Given the description of an element on the screen output the (x, y) to click on. 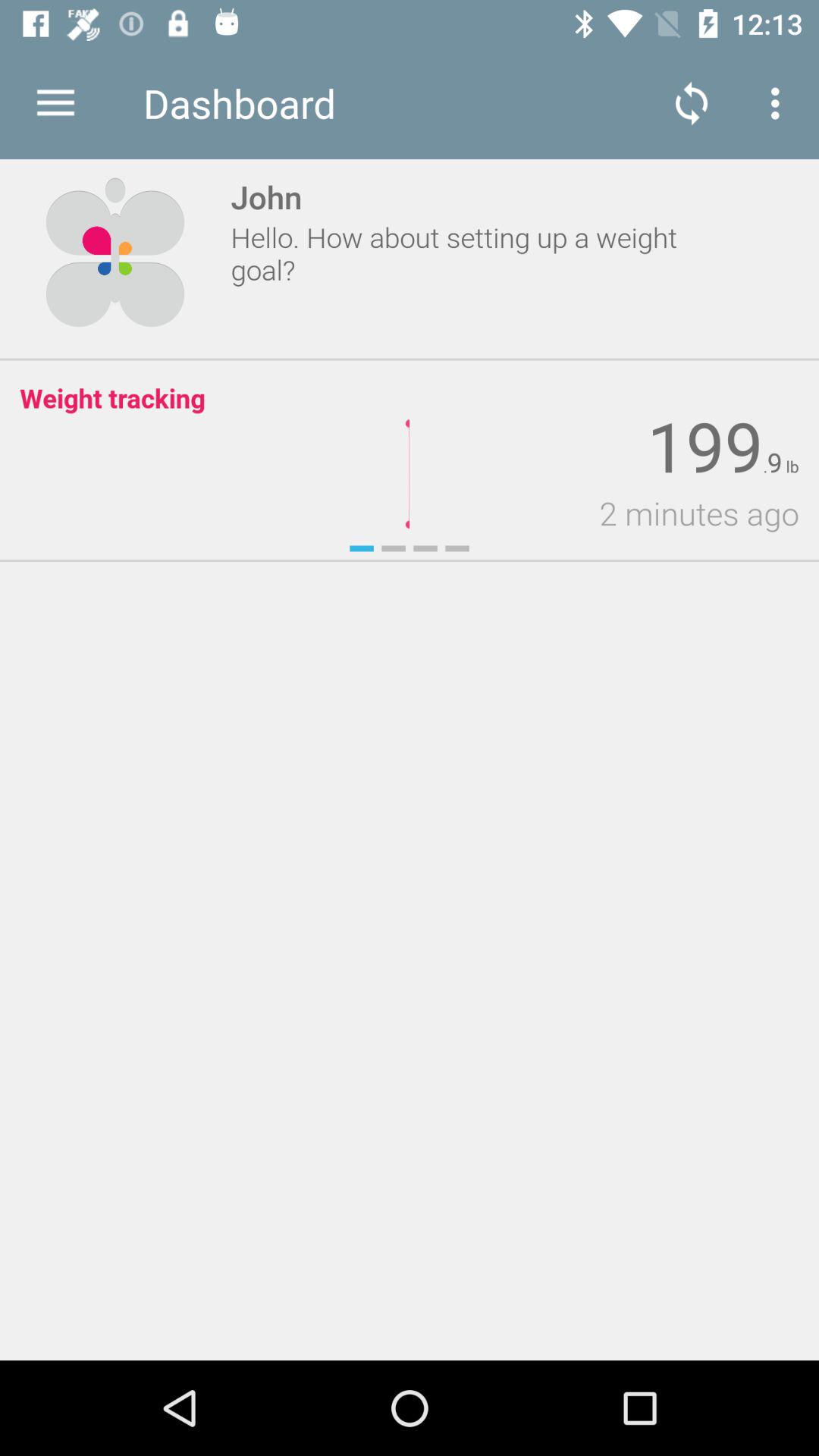
press the 9 app (774, 462)
